Given the description of an element on the screen output the (x, y) to click on. 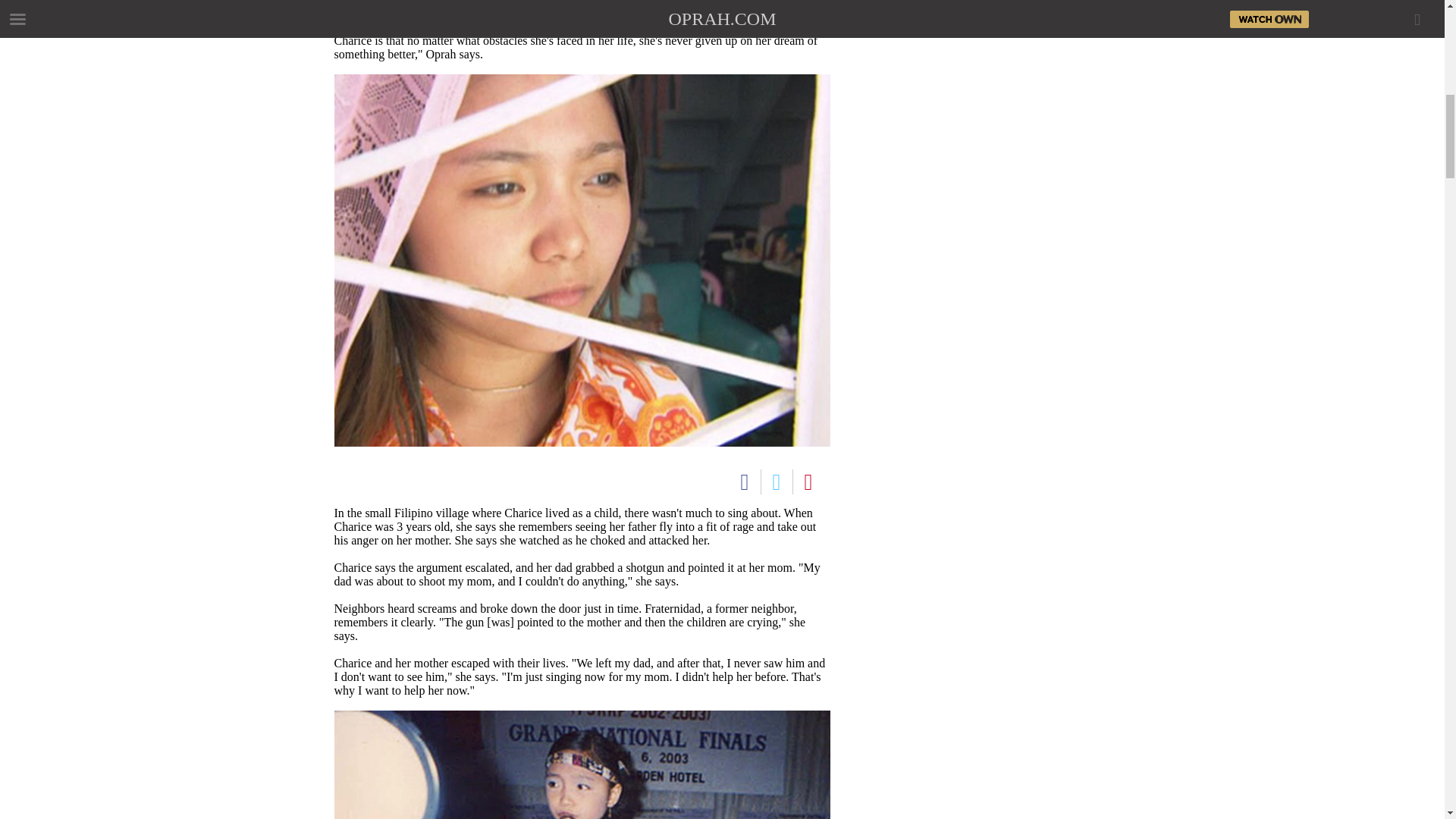
Charice Pempengco performs in a singing contest. (581, 764)
